Given the description of an element on the screen output the (x, y) to click on. 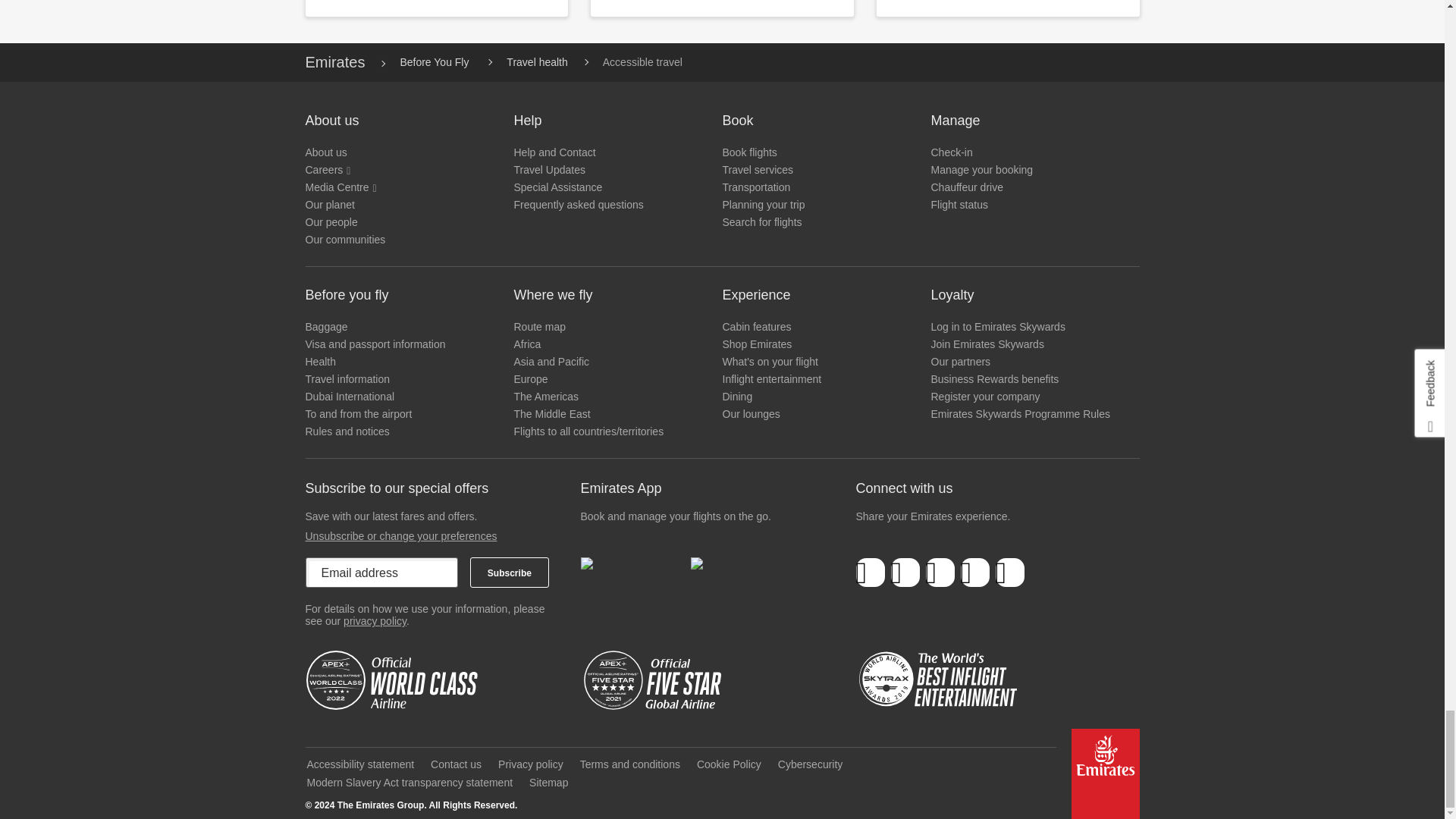
Facebook (870, 572)
privacy policy (374, 621)
Unsubscribe or change your preferences (400, 535)
